Given the description of an element on the screen output the (x, y) to click on. 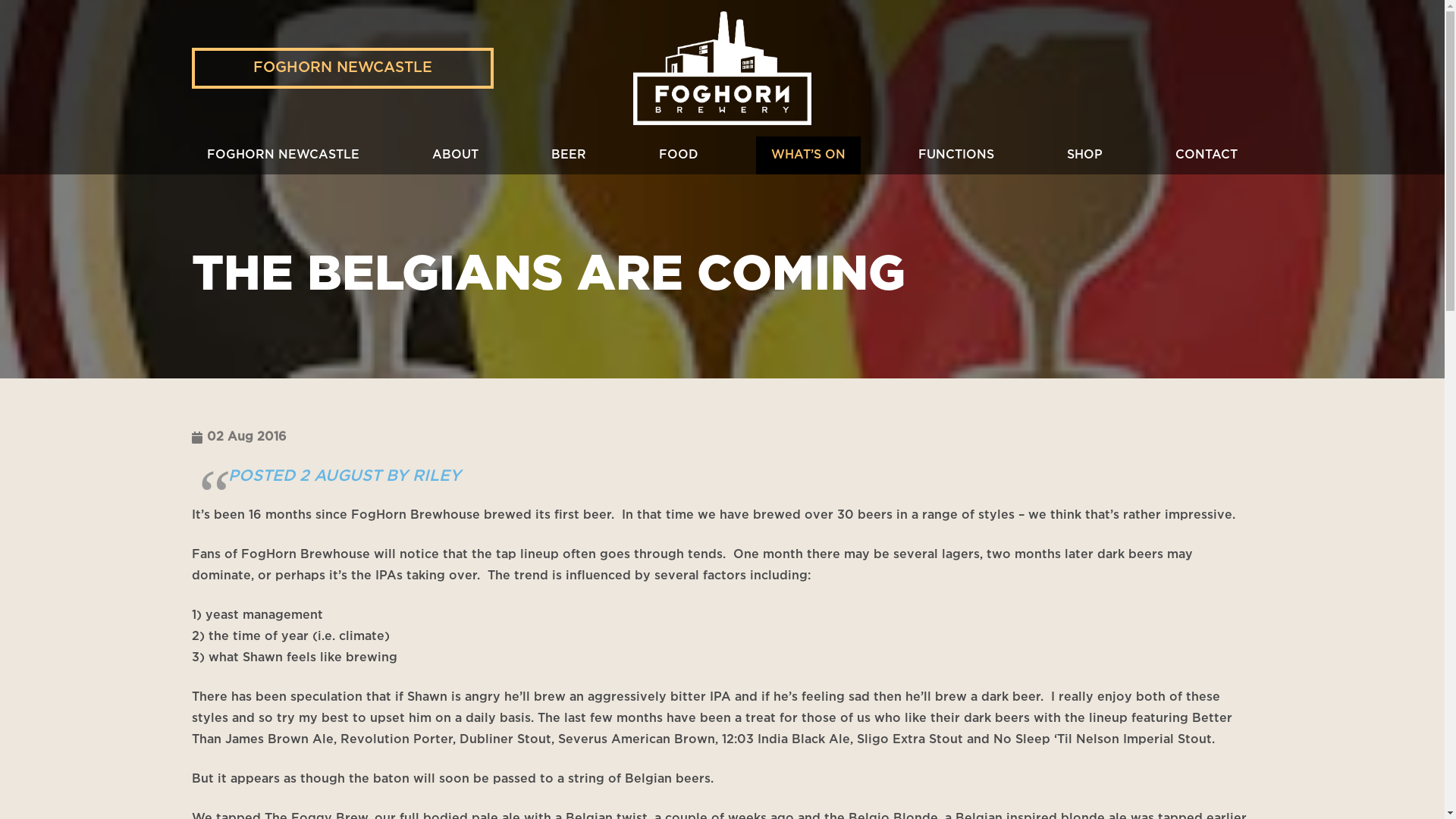
BEER Element type: text (568, 155)
FOGHORN NEWCASTLE Element type: text (342, 67)
SHOP Element type: text (1084, 155)
ABOUT Element type: text (455, 155)
CONTACT Element type: text (1206, 155)
FOOD Element type: text (678, 155)
FUNCTIONS Element type: text (956, 155)
FOGHORN NEWCASTLE Element type: text (282, 155)
